Given the description of an element on the screen output the (x, y) to click on. 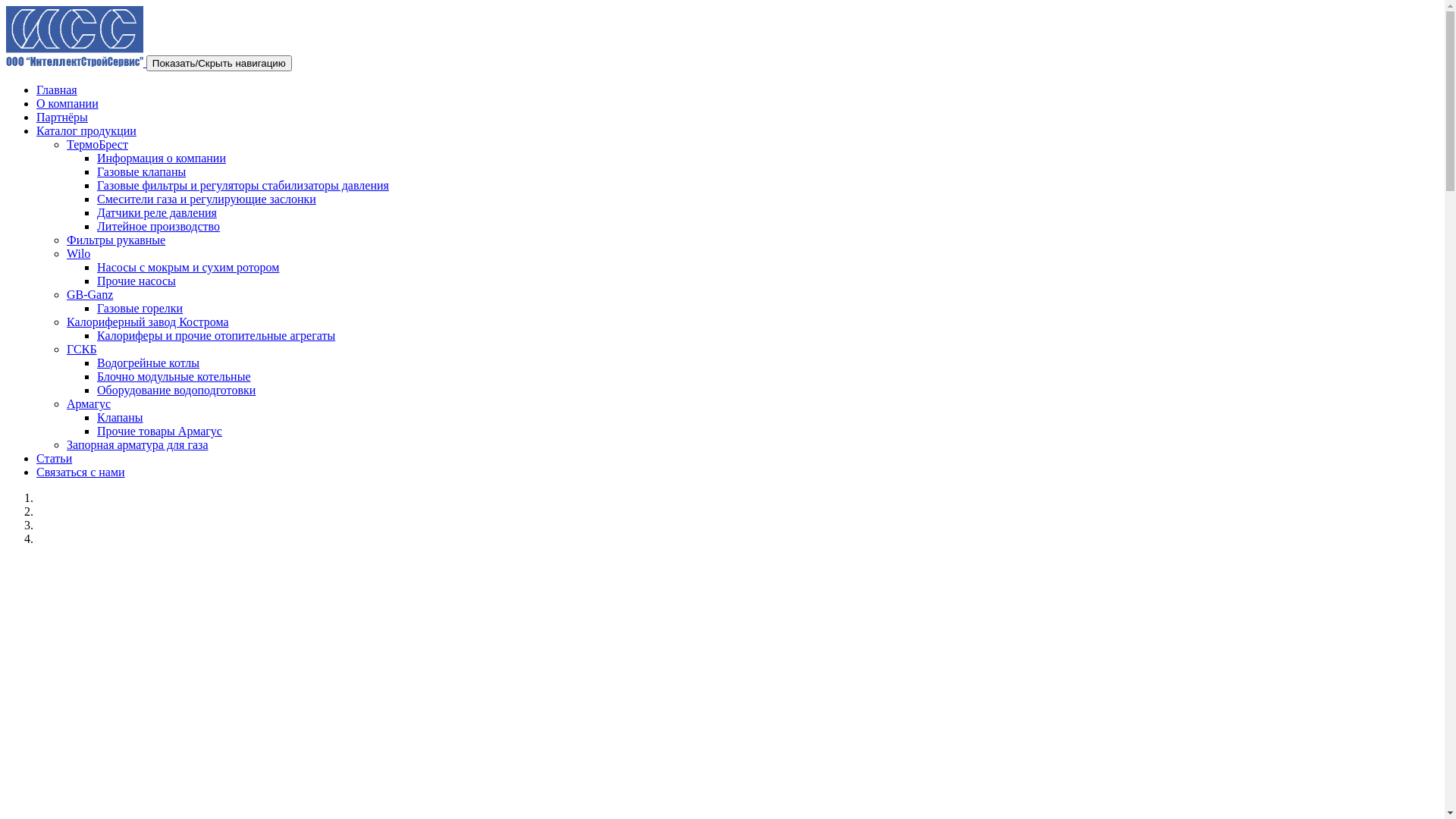
Wilo Element type: text (78, 253)
GB-Ganz Element type: text (89, 294)
